Given the description of an element on the screen output the (x, y) to click on. 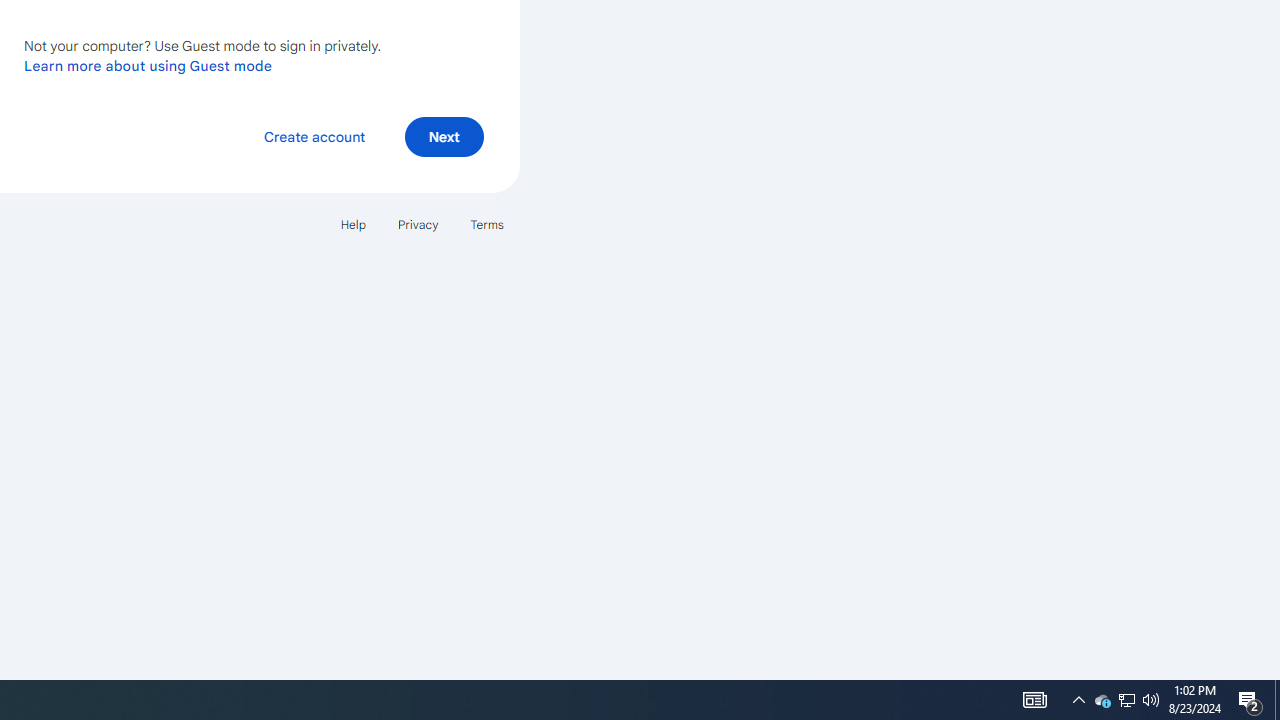
Learn more about using Guest mode (148, 65)
Next (443, 135)
Create account (314, 135)
